Given the description of an element on the screen output the (x, y) to click on. 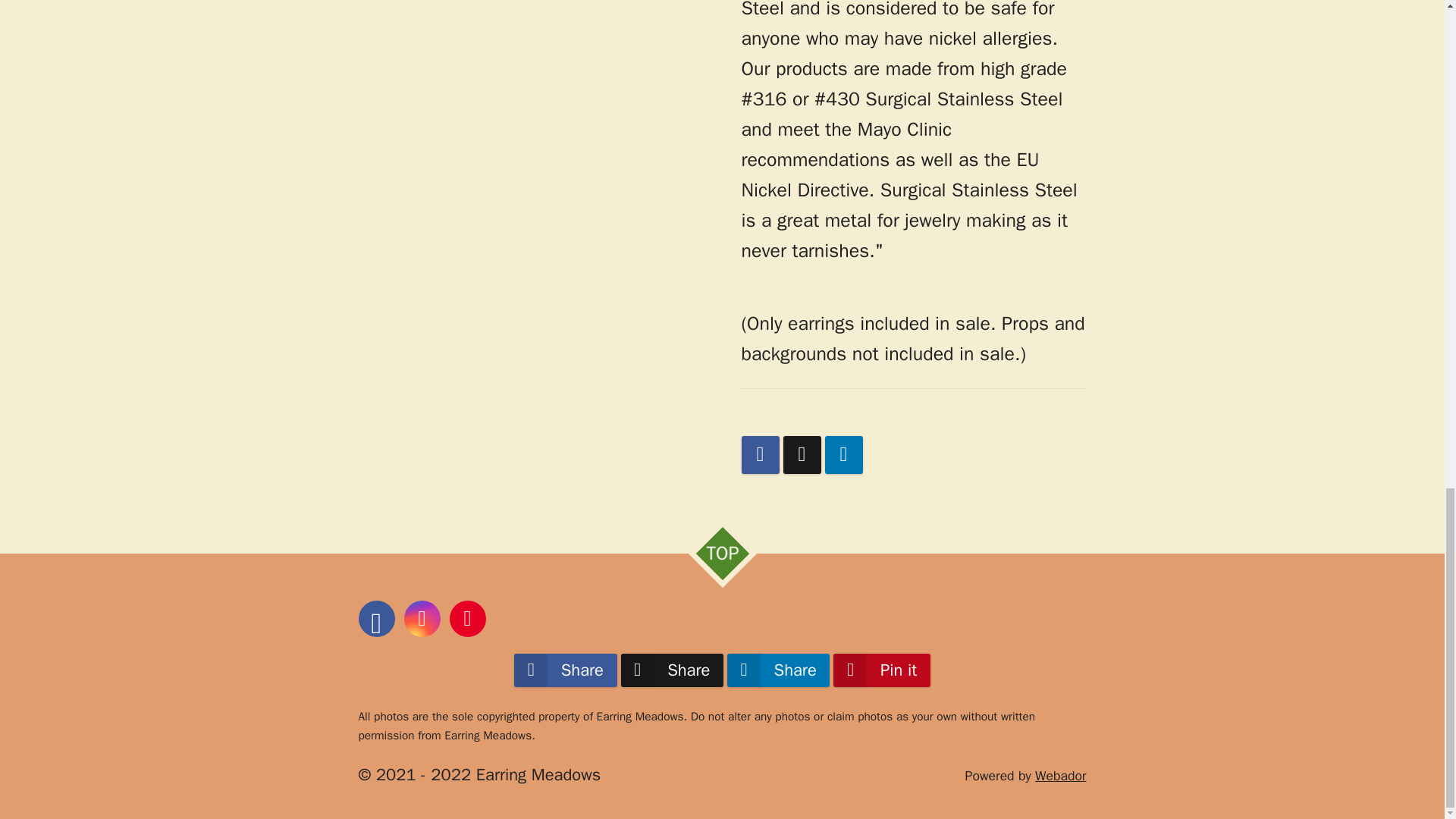
TOP (714, 546)
Share (564, 670)
Share (672, 670)
Pin it (881, 670)
Share (777, 670)
TOP (714, 546)
Webador (1060, 775)
